Given the description of an element on the screen output the (x, y) to click on. 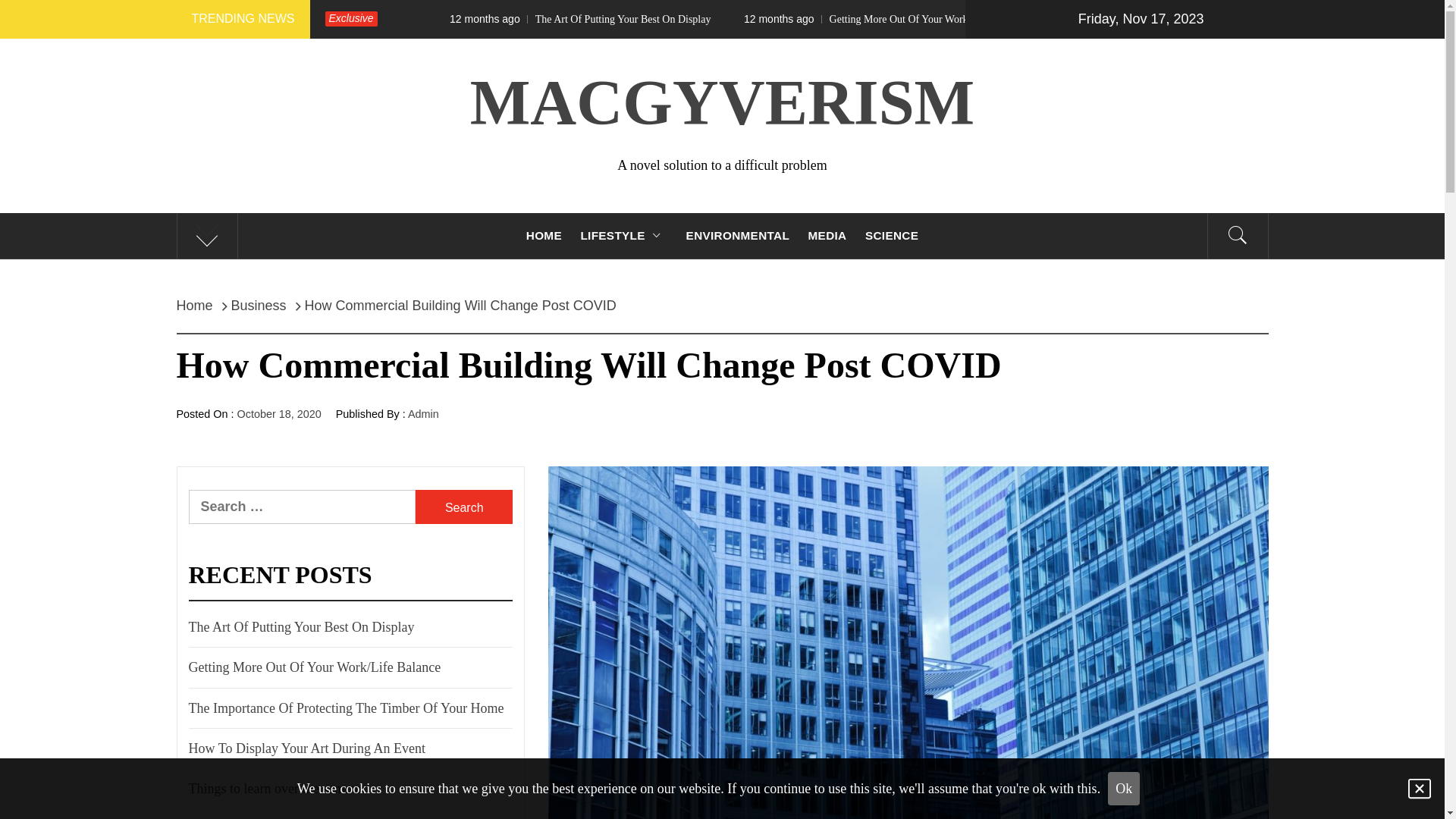
October 18, 2020 Element type: text (278, 413)
SCIENCE Element type: text (891, 235)
Home Element type: text (198, 305)
Ok Element type: text (1123, 788)
MEDIA Element type: text (827, 235)
Getting More Out Of Your Work/Life Balance Element type: text (314, 666)
The Art Of Putting Your Best On Display Element type: text (301, 626)
Search Element type: text (463, 506)
How Commercial Building Will Change Post COVID Element type: text (460, 305)
Search Element type: text (797, 37)
Admin Element type: text (423, 413)
The Importance Of Protecting The Timber Of Your Home Element type: text (345, 707)
How To Display Your Art During An Event Element type: text (306, 748)
ENVIRONMENTAL Element type: text (737, 235)
HOME Element type: text (543, 235)
Things to learn over the summer Element type: text (276, 788)
Business Element type: text (258, 305)
12 months agoThe Art Of Putting Your Best On Display Element type: text (711, 19)
12 months agoGetting More Out Of Your Work/Life Balance Element type: text (1013, 19)
LIFESTYLE Element type: text (623, 235)
MACGYVERISM Element type: text (722, 102)
